Given the description of an element on the screen output the (x, y) to click on. 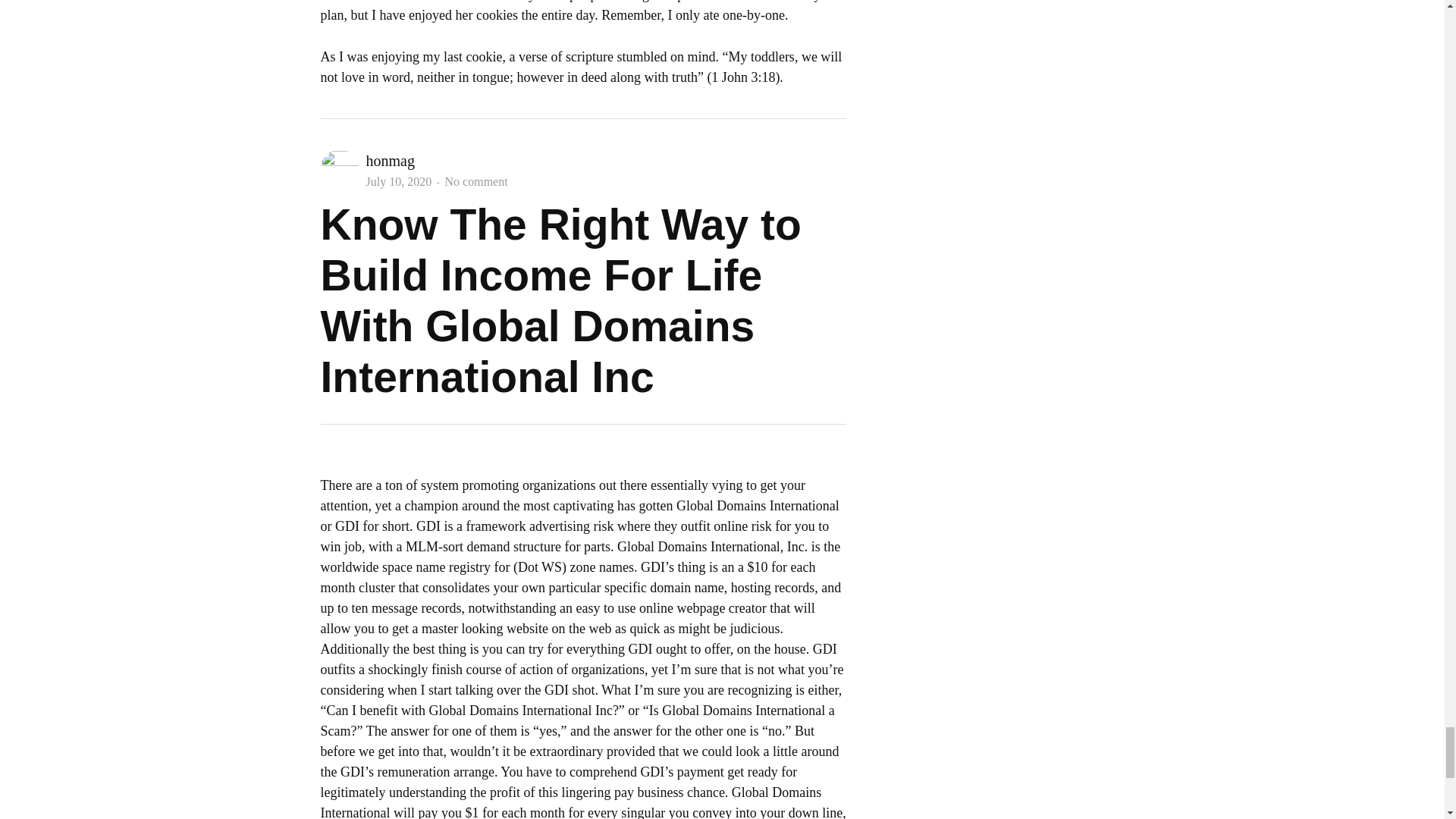
honmag (389, 160)
